Given the description of an element on the screen output the (x, y) to click on. 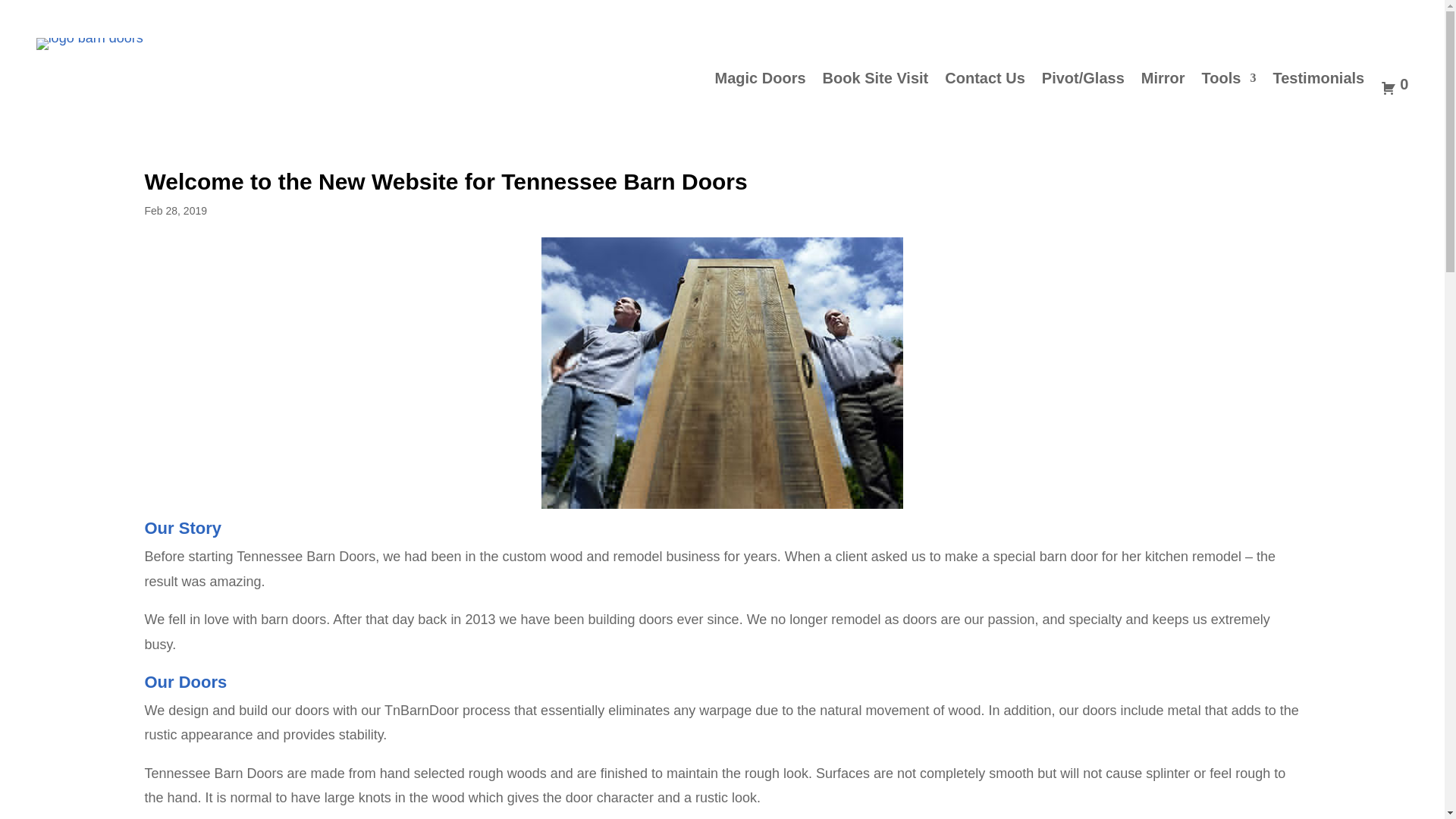
Builder (1246, 17)
Residential (1184, 17)
Mirror (1163, 86)
Book Site Visit (875, 86)
Commercial (1312, 17)
Tools (1229, 86)
Hardware (1384, 17)
about (722, 372)
Contact Us (984, 86)
View Quote (1393, 86)
